Given the description of an element on the screen output the (x, y) to click on. 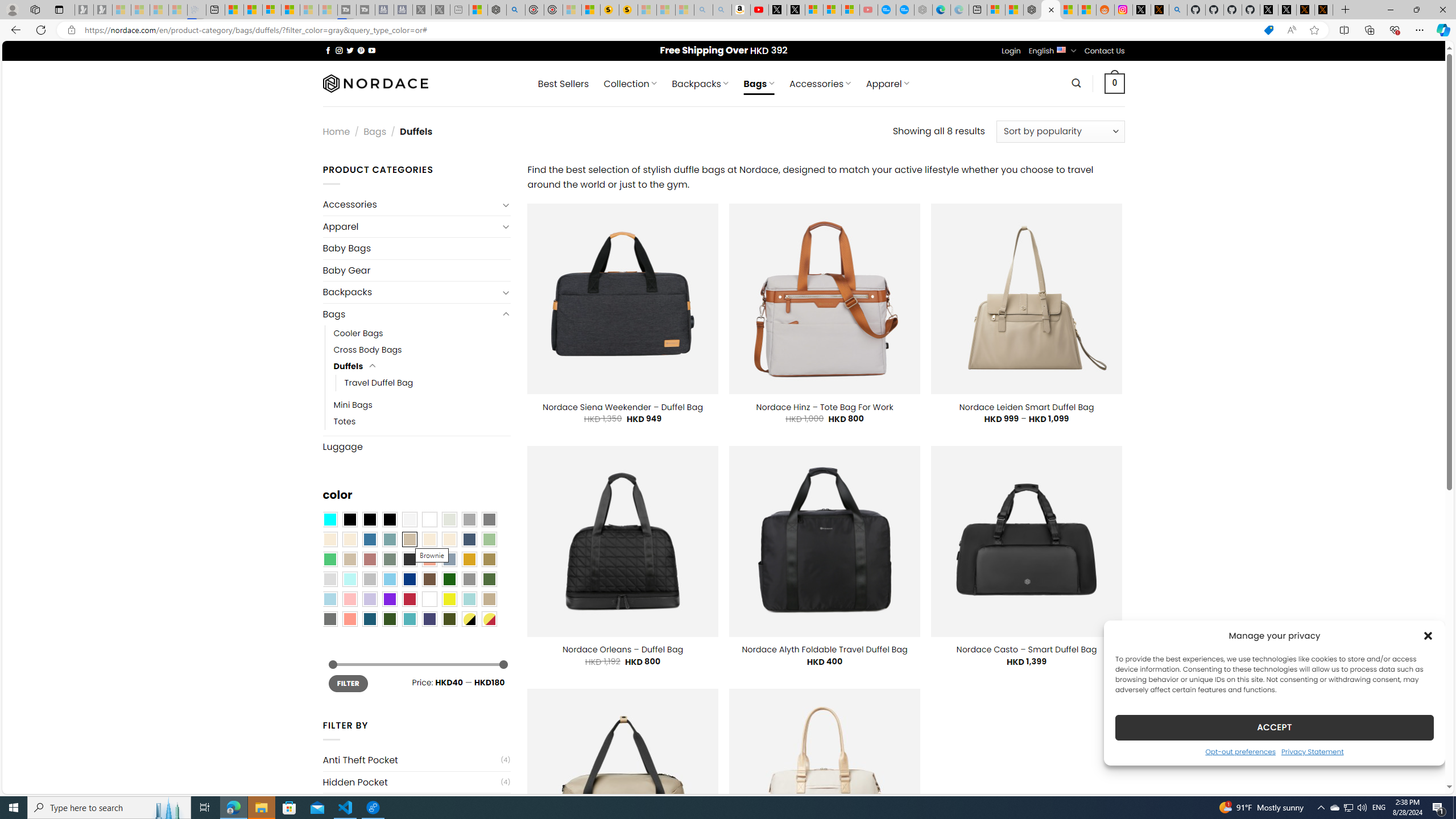
Nordace - Duffels (1050, 9)
Gold (468, 559)
Teal (408, 618)
Khaki (488, 599)
Totes (422, 420)
Gray (468, 579)
Light Gray (329, 579)
Kelp (488, 559)
Nordace Alyth Foldable Travel Duffel Bag (824, 649)
Light Purple (369, 599)
